Given the description of an element on the screen output the (x, y) to click on. 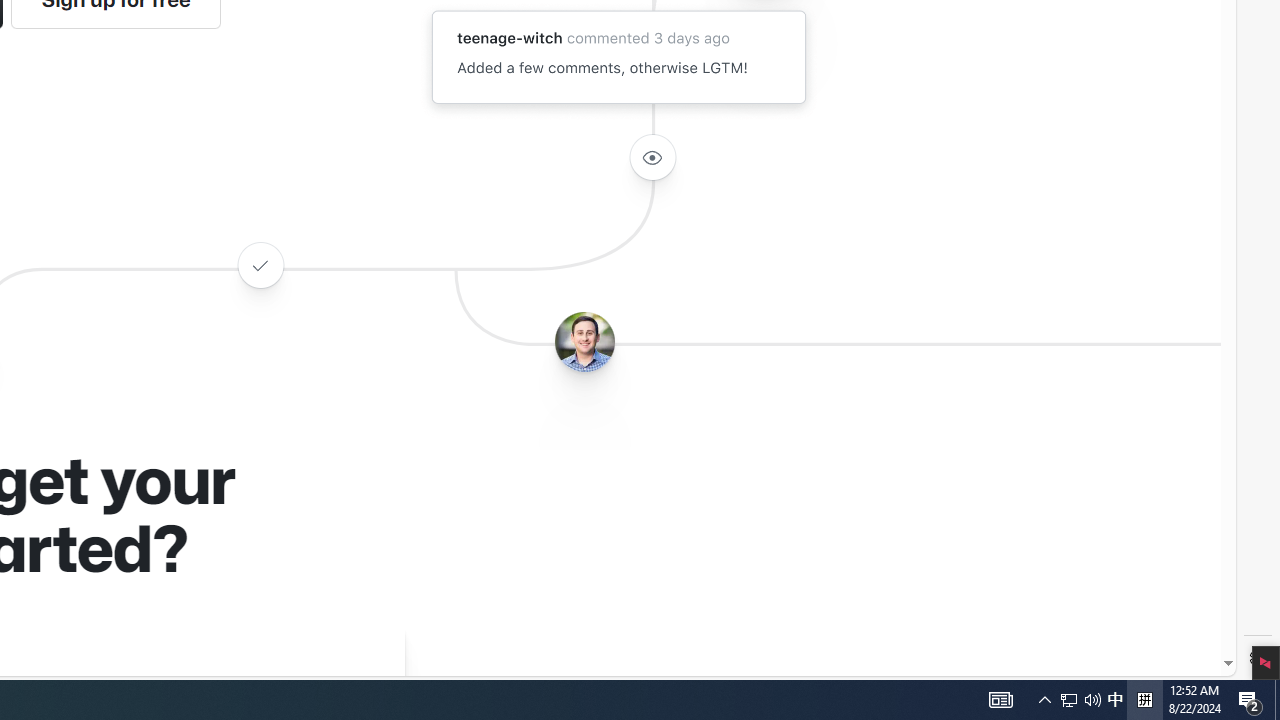
Class: color-fg-muted width-full (260, 264)
Avatar of the user benbalter (584, 341)
